Given the description of an element on the screen output the (x, y) to click on. 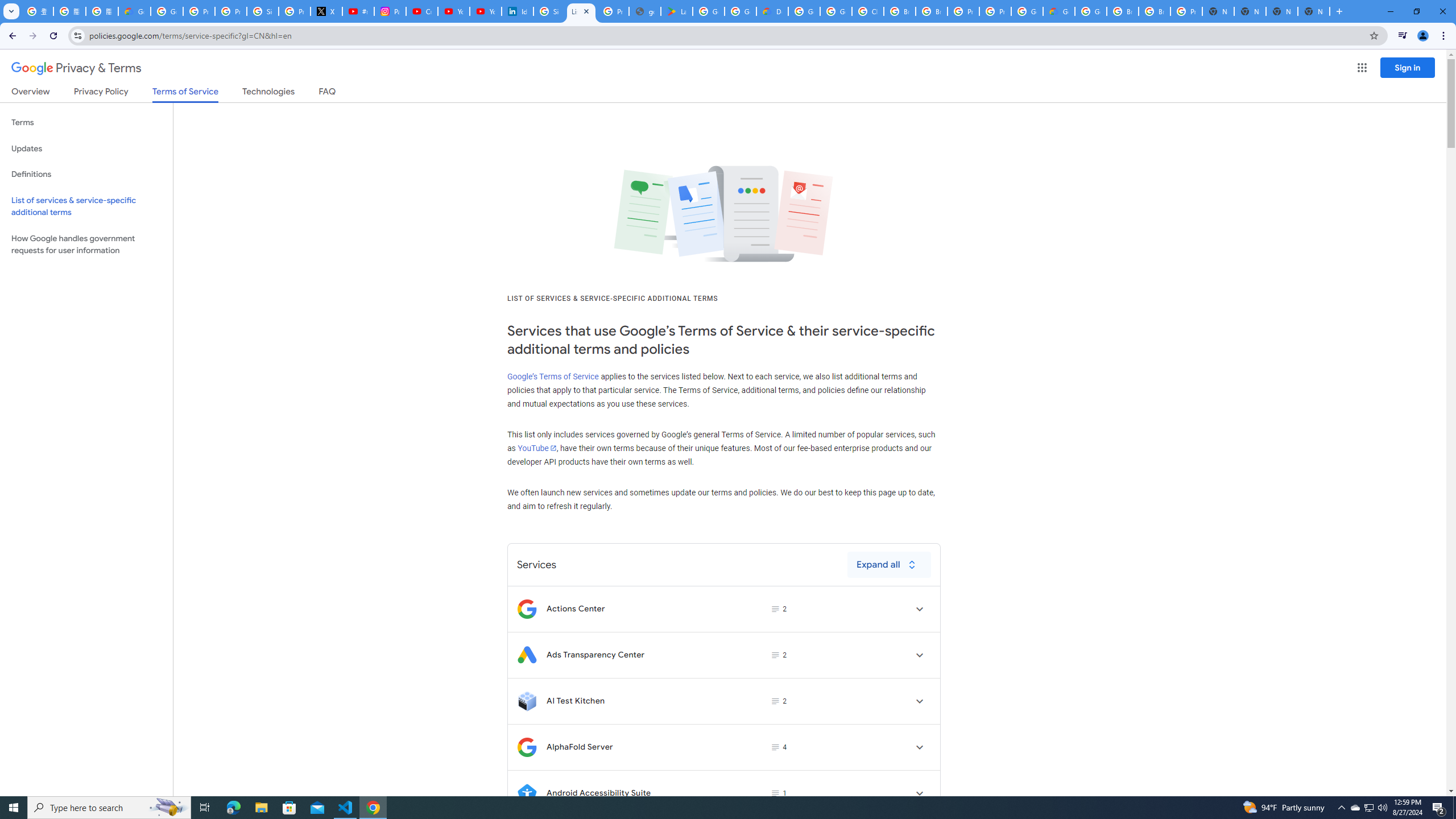
Logo for AI Test Kitchen (526, 700)
Sign in - Google Accounts (262, 11)
Logo for Ads Transparency Center (526, 654)
YouTube Culture & Trends - YouTube Top 10, 2021 (485, 11)
